Given the description of an element on the screen output the (x, y) to click on. 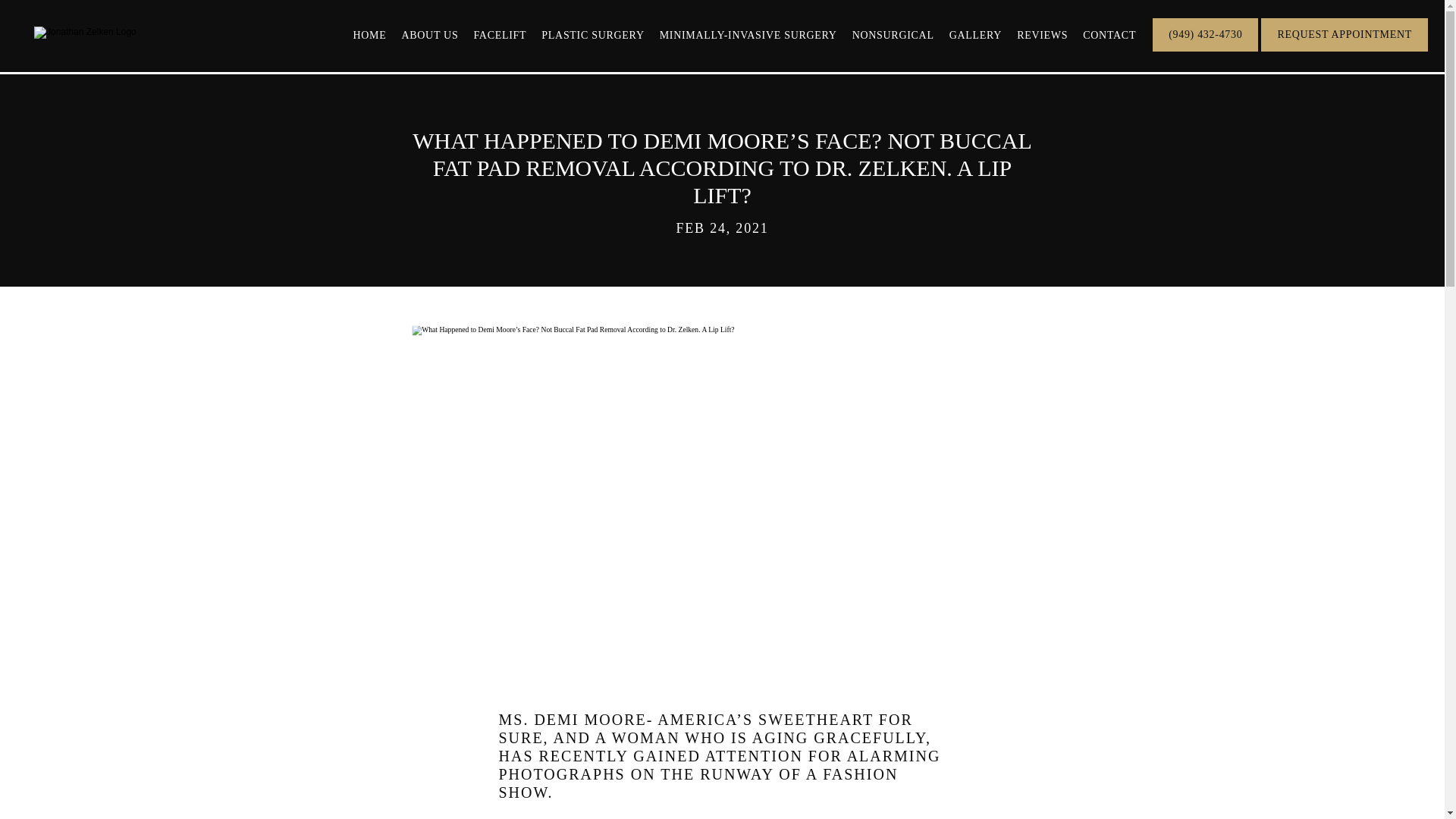
CONTACT (1109, 34)
REVIEWS (1041, 34)
REQUEST APPOINTMENT (1344, 50)
HOME (368, 34)
FACELIFT (499, 34)
GALLERY (975, 34)
ABOUT US (429, 34)
